Given the description of an element on the screen output the (x, y) to click on. 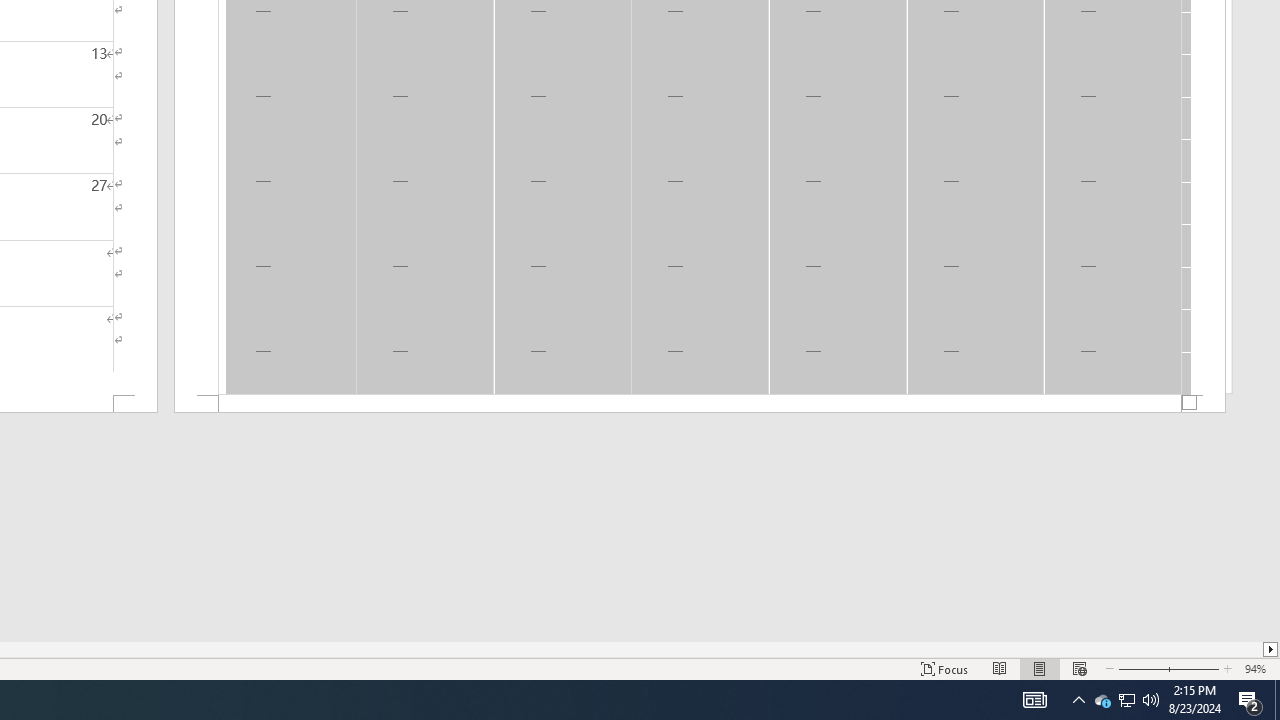
Column right (1271, 649)
Footer -Section 1- (700, 404)
